Given the description of an element on the screen output the (x, y) to click on. 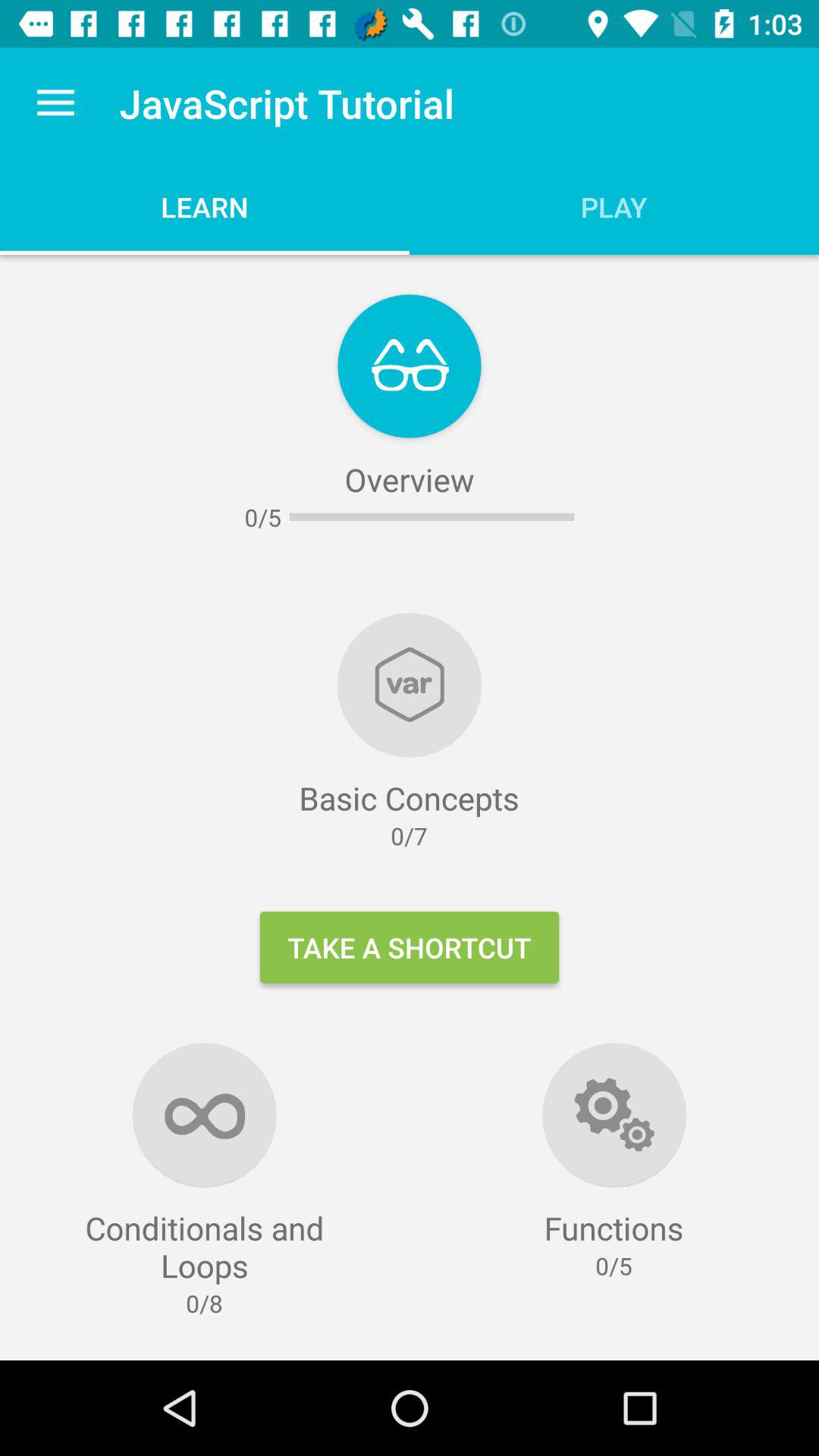
choose item to the left of javascript tutorial item (55, 103)
